Given the description of an element on the screen output the (x, y) to click on. 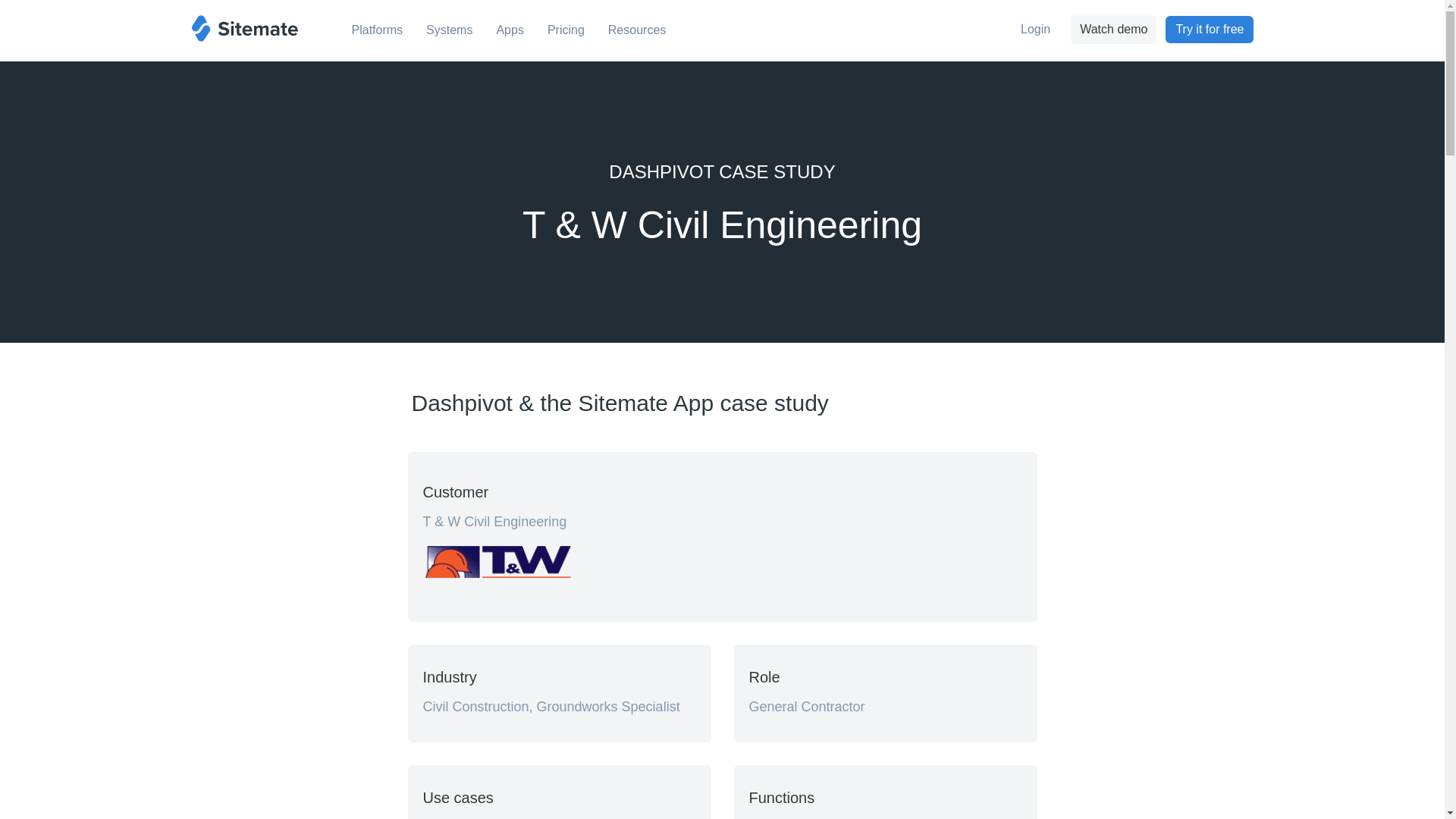
Systems (448, 33)
Platforms (376, 33)
